Given the description of an element on the screen output the (x, y) to click on. 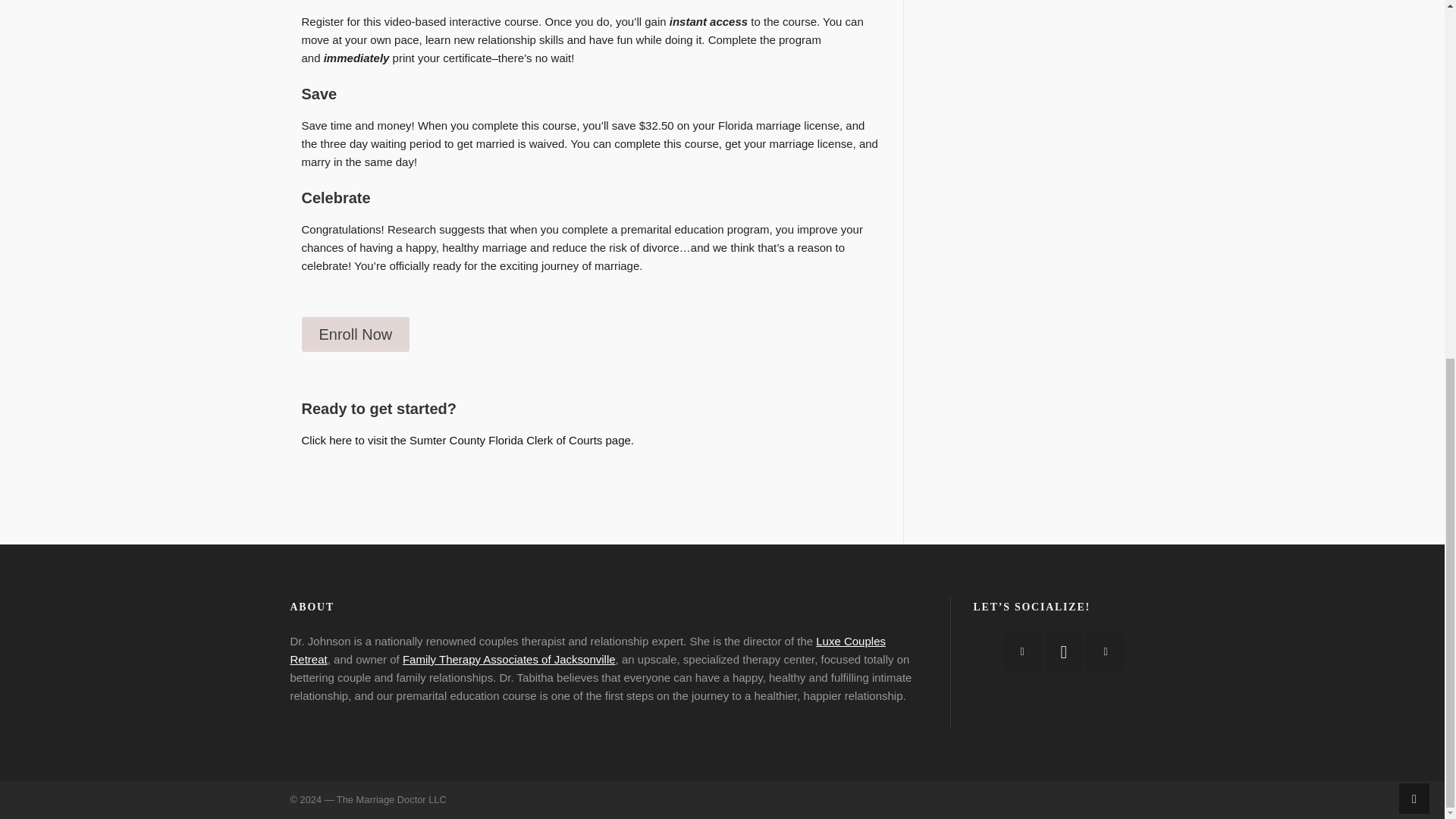
Enroll Now (355, 334)
Luxe Couples Retreat (587, 649)
Family Therapy Associates of Jacksonville (509, 658)
